Given the description of an element on the screen output the (x, y) to click on. 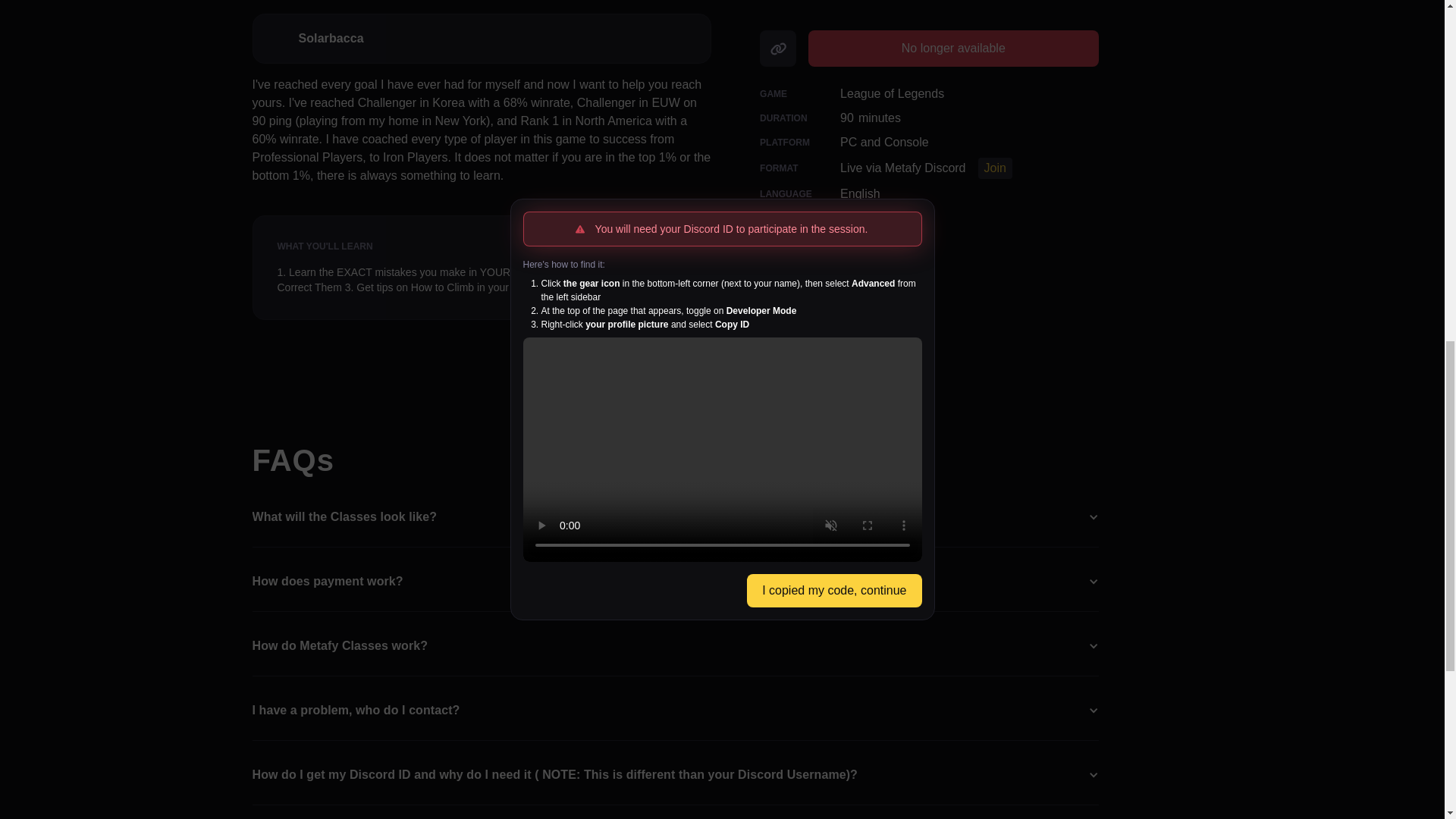
Watch this AWESOME VIDEO to learn more about Classes (397, 585)
Support ticket on Discord here (521, 748)
How to Access Discord ID (922, 812)
